Given the description of an element on the screen output the (x, y) to click on. 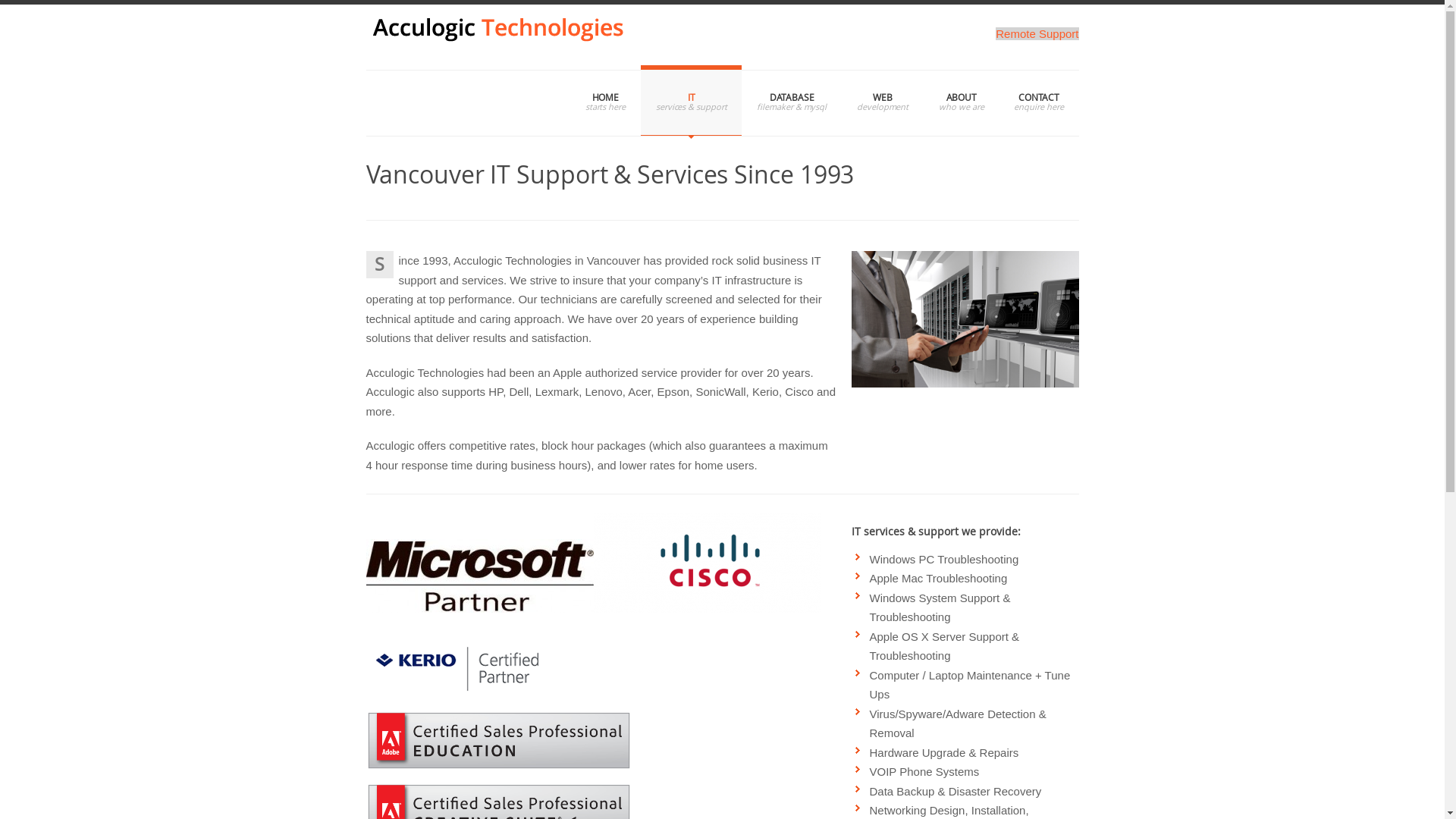
CONTACT Element type: text (1038, 100)
Acculogic Technologies Element type: hover (497, 36)
HOME Element type: text (605, 100)
WEB Element type: text (882, 100)
Remote Support Element type: text (1036, 33)
DATABASE Element type: text (791, 100)
IT Element type: text (691, 100)
ABOUT Element type: text (960, 100)
